Given the description of an element on the screen output the (x, y) to click on. 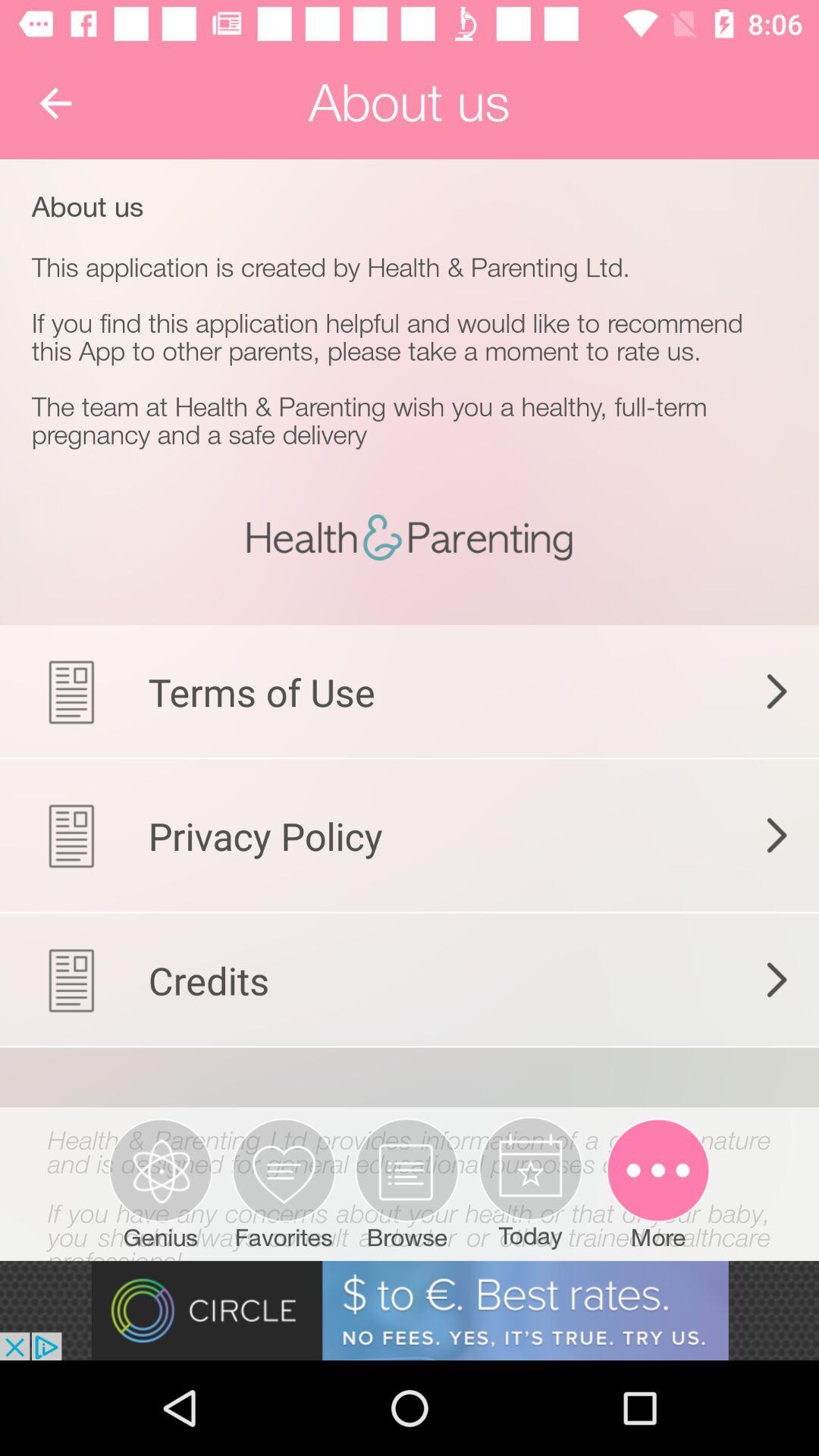
phone app downloads (409, 1163)
